Given the description of an element on the screen output the (x, y) to click on. 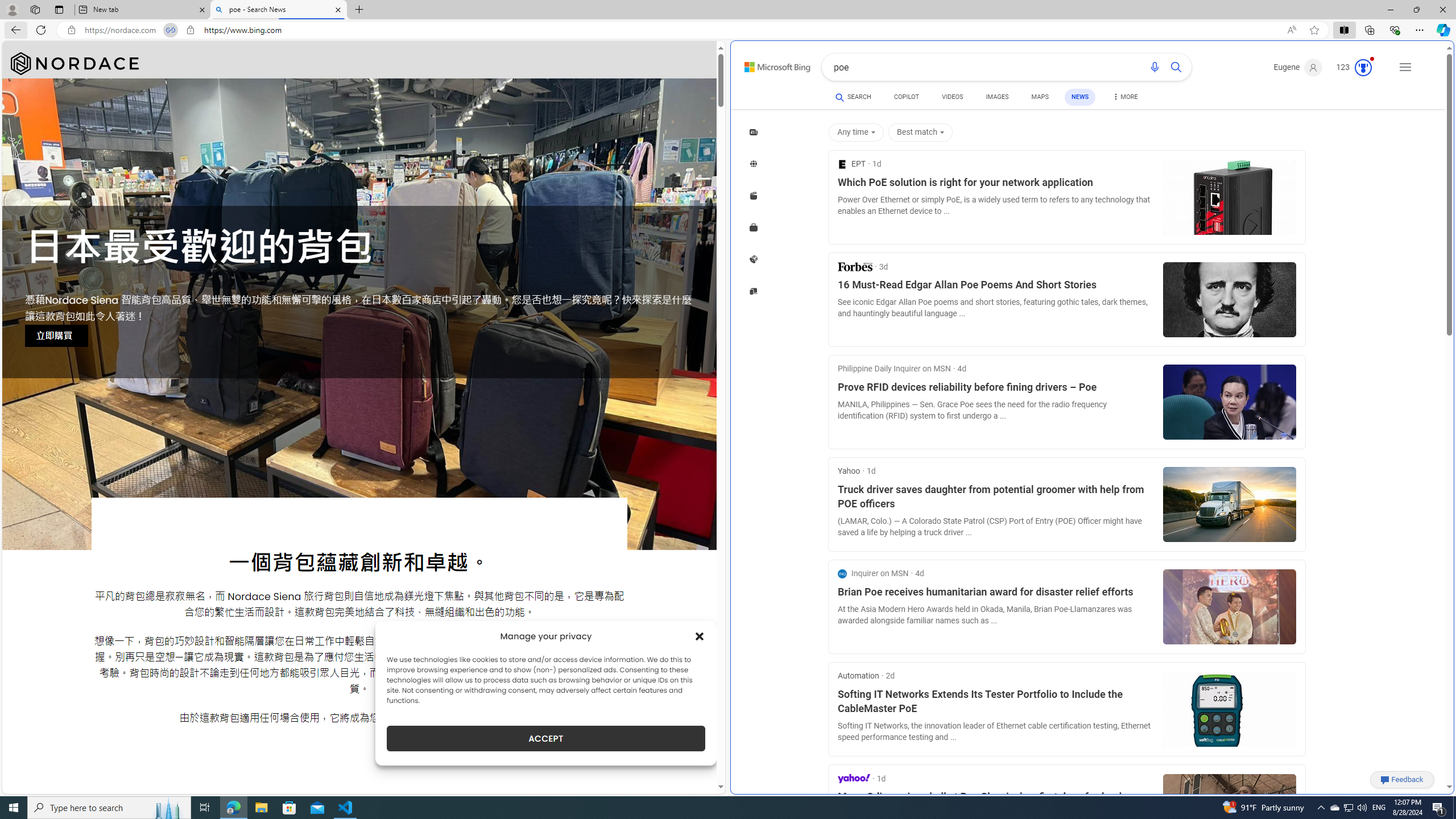
Search news from Forbes (854, 266)
16 Must-Read Edgar Allan Poe Poems And Short Stories (995, 285)
Search news about Entertainment (754, 195)
NEWS (1080, 96)
VIDEOS (951, 96)
Best match (922, 132)
Eugene (1298, 67)
Any time (855, 132)
